Given the description of an element on the screen output the (x, y) to click on. 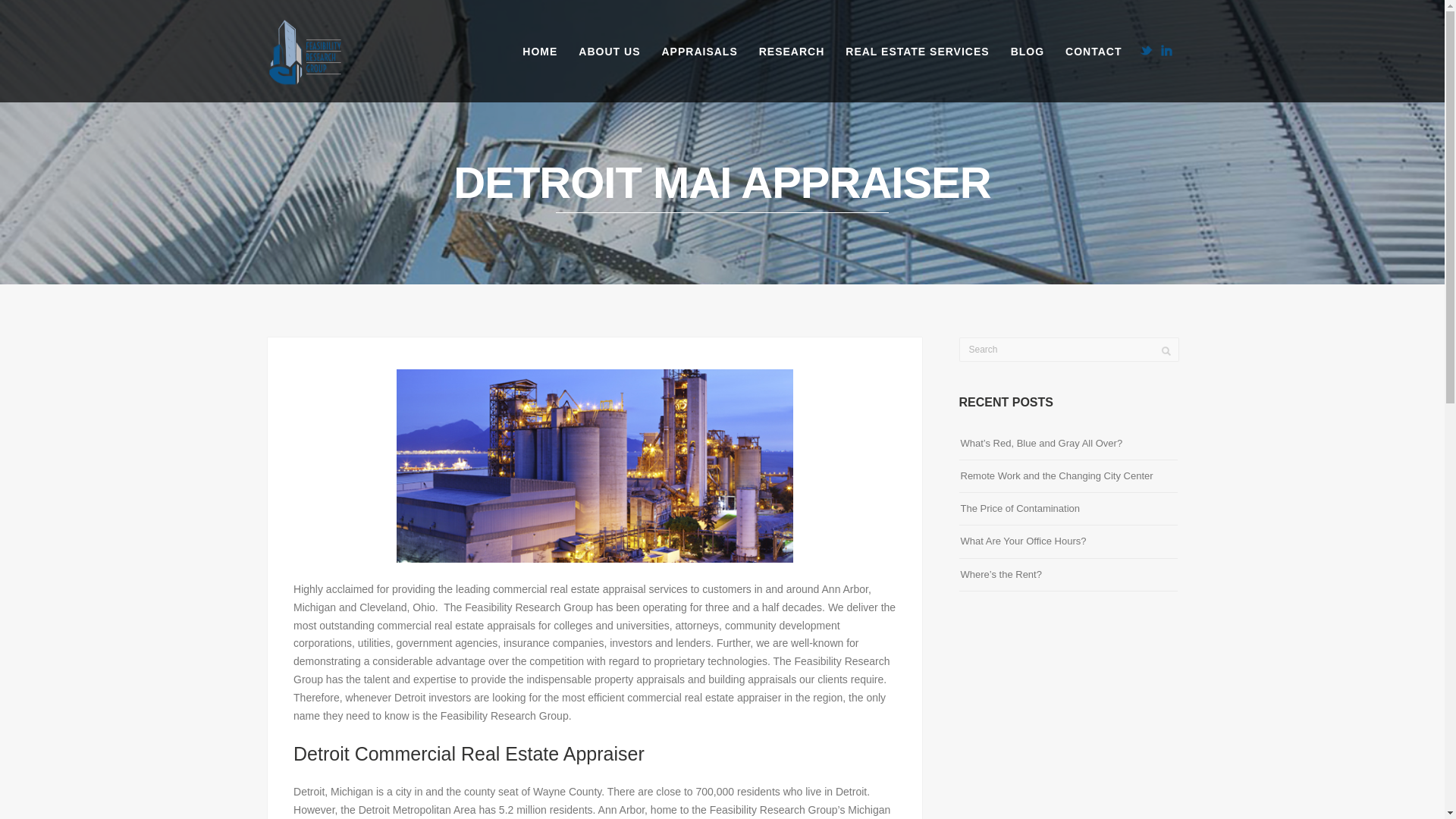
CONTACT (1093, 52)
BLOG (1027, 52)
The Price of Contamination (1019, 507)
APPRAISALS (699, 52)
Follow us on Twitter (1144, 49)
ABOUT US (608, 52)
What Are Your Office Hours? (1022, 540)
Remote Work and the Changing City Center (1056, 475)
Follow us on LinkedIn (1166, 49)
HOME (539, 52)
RESEARCH (791, 52)
REAL ESTATE SERVICES (916, 52)
